Given the description of an element on the screen output the (x, y) to click on. 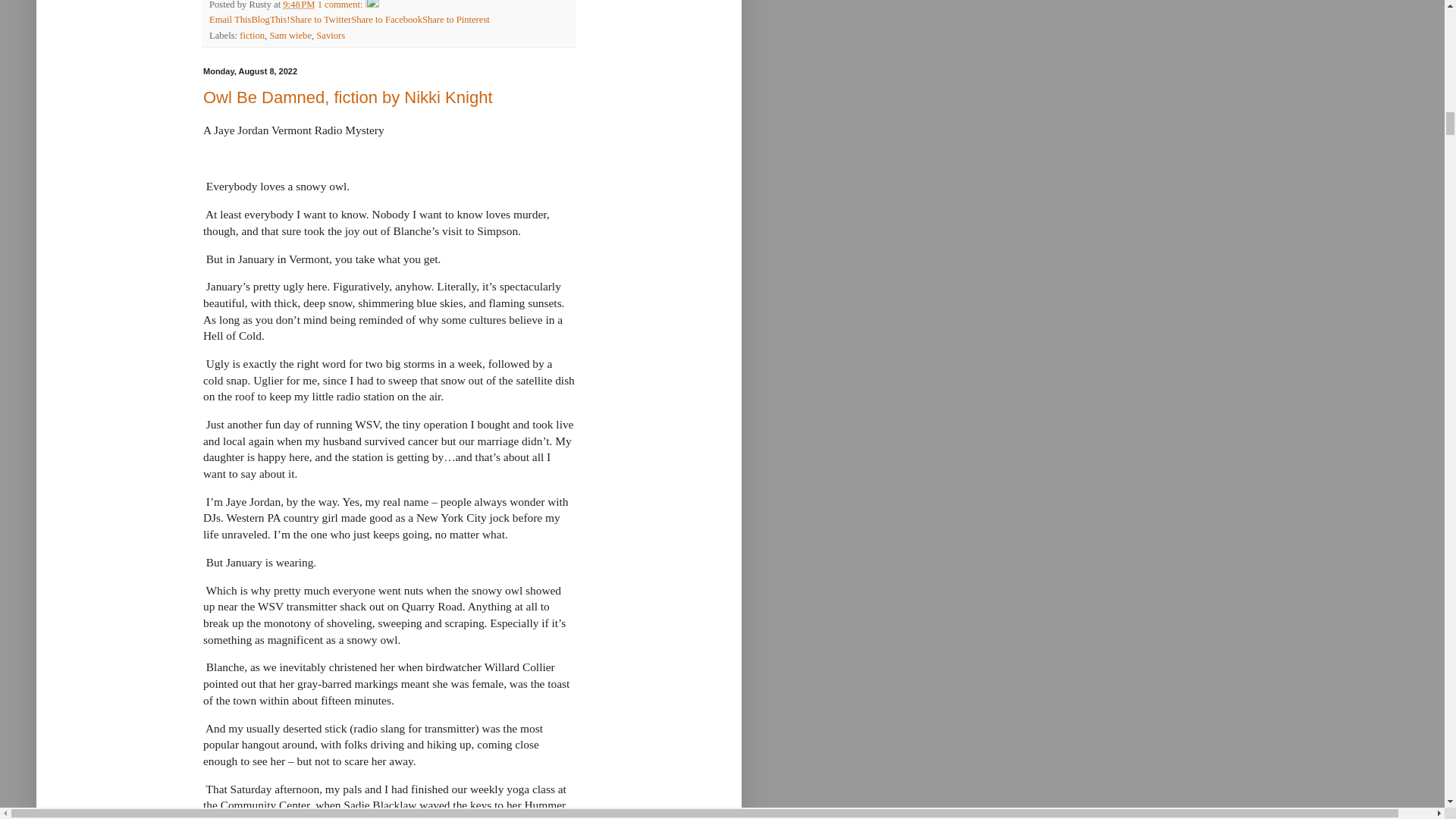
Saviors (330, 35)
BlogThis! (269, 19)
1 comment: (341, 4)
Share to Pinterest (455, 19)
Share to Facebook (386, 19)
Sam wiebe (290, 35)
BlogThis! (269, 19)
Share to Twitter (319, 19)
Owl Be Damned, fiction by Nikki Knight (348, 97)
Email This (229, 19)
Email This (229, 19)
Share to Pinterest (455, 19)
permanent link (298, 4)
fiction (252, 35)
Share to Twitter (319, 19)
